Given the description of an element on the screen output the (x, y) to click on. 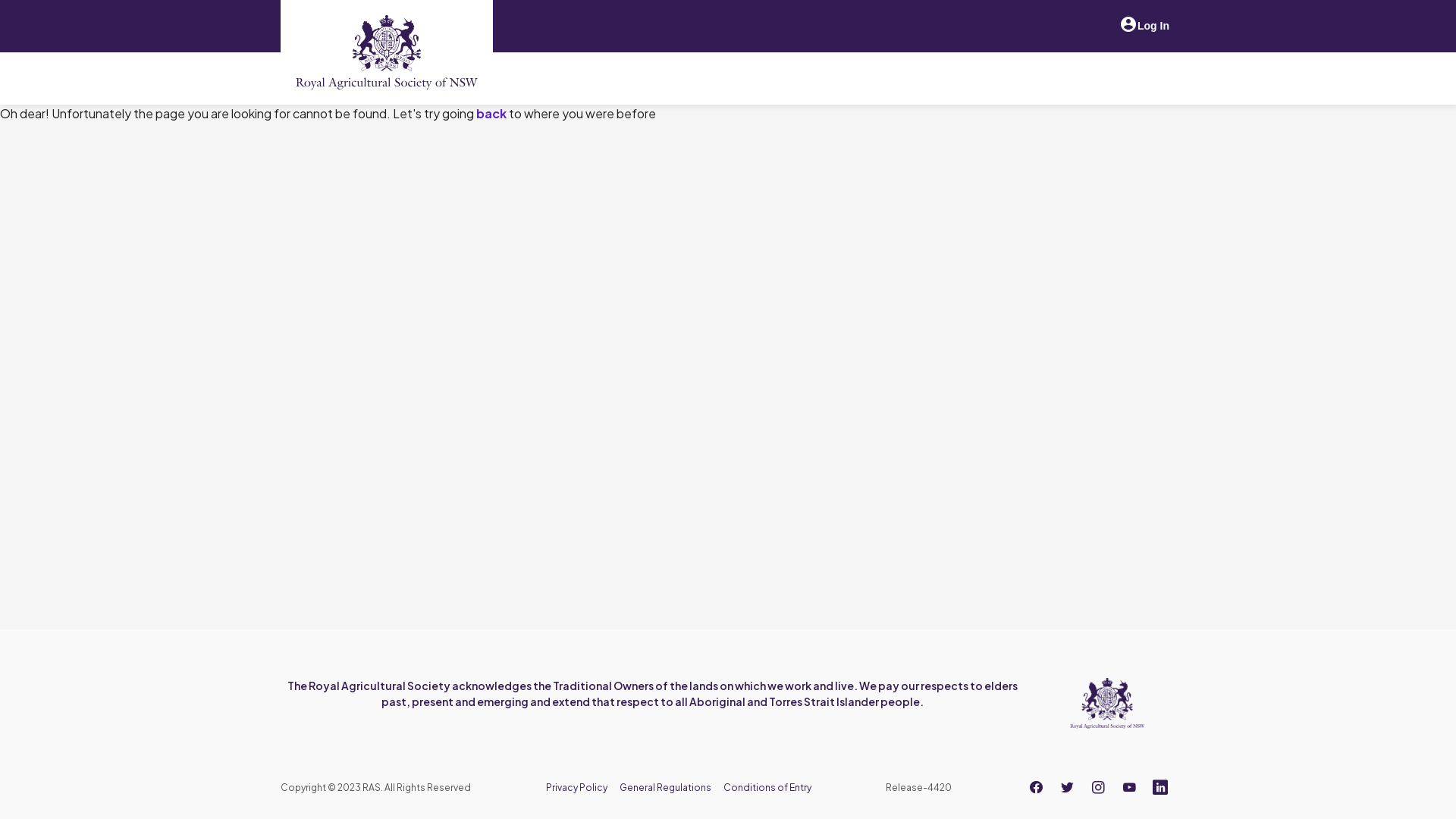
account_circle
Log In Element type: text (1144, 25)
General Regulations Element type: text (665, 787)
back Element type: text (491, 113)
Privacy Policy Element type: text (576, 787)
Conditions of Entry Element type: text (767, 787)
